Given the description of an element on the screen output the (x, y) to click on. 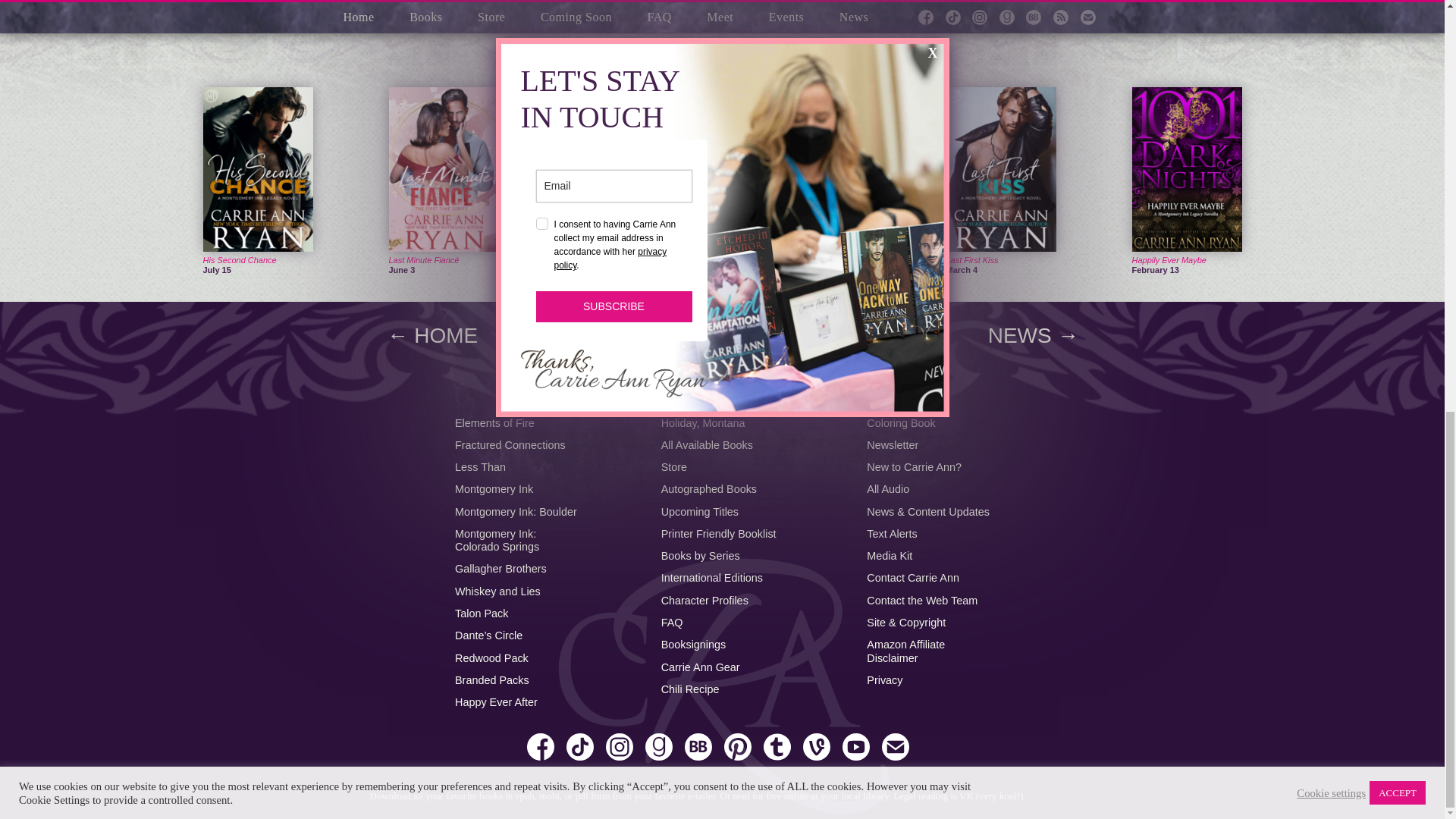
SEARCH (721, 386)
Search for: (721, 386)
SEARCH (721, 386)
His Second Chance (239, 259)
